Given the description of an element on the screen output the (x, y) to click on. 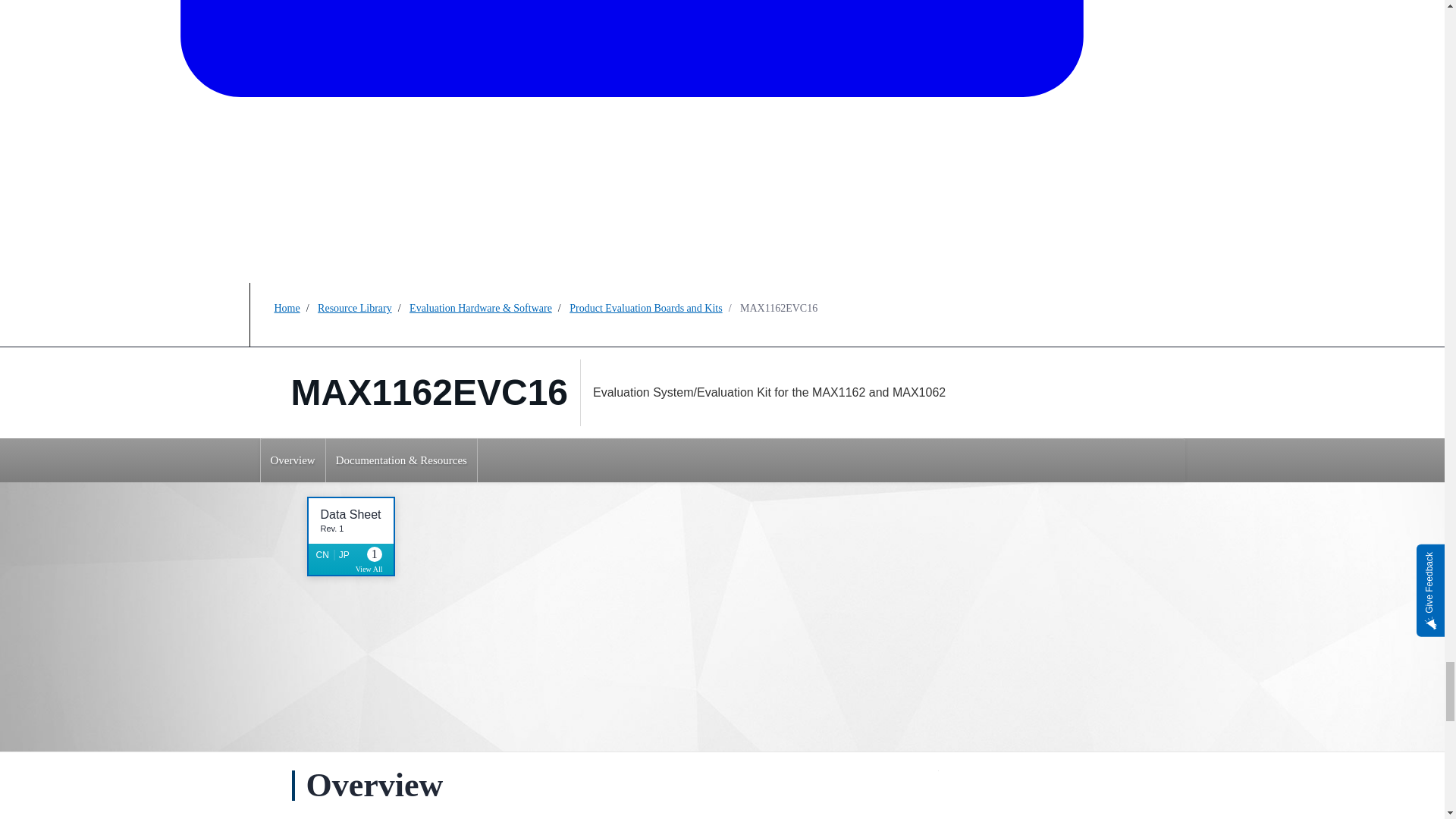
JP (344, 554)
Resource Library (354, 307)
Product Evaluation Boards and Kits (645, 307)
Home (287, 307)
Data Sheet (350, 513)
Overview (374, 560)
CN (292, 460)
